Given the description of an element on the screen output the (x, y) to click on. 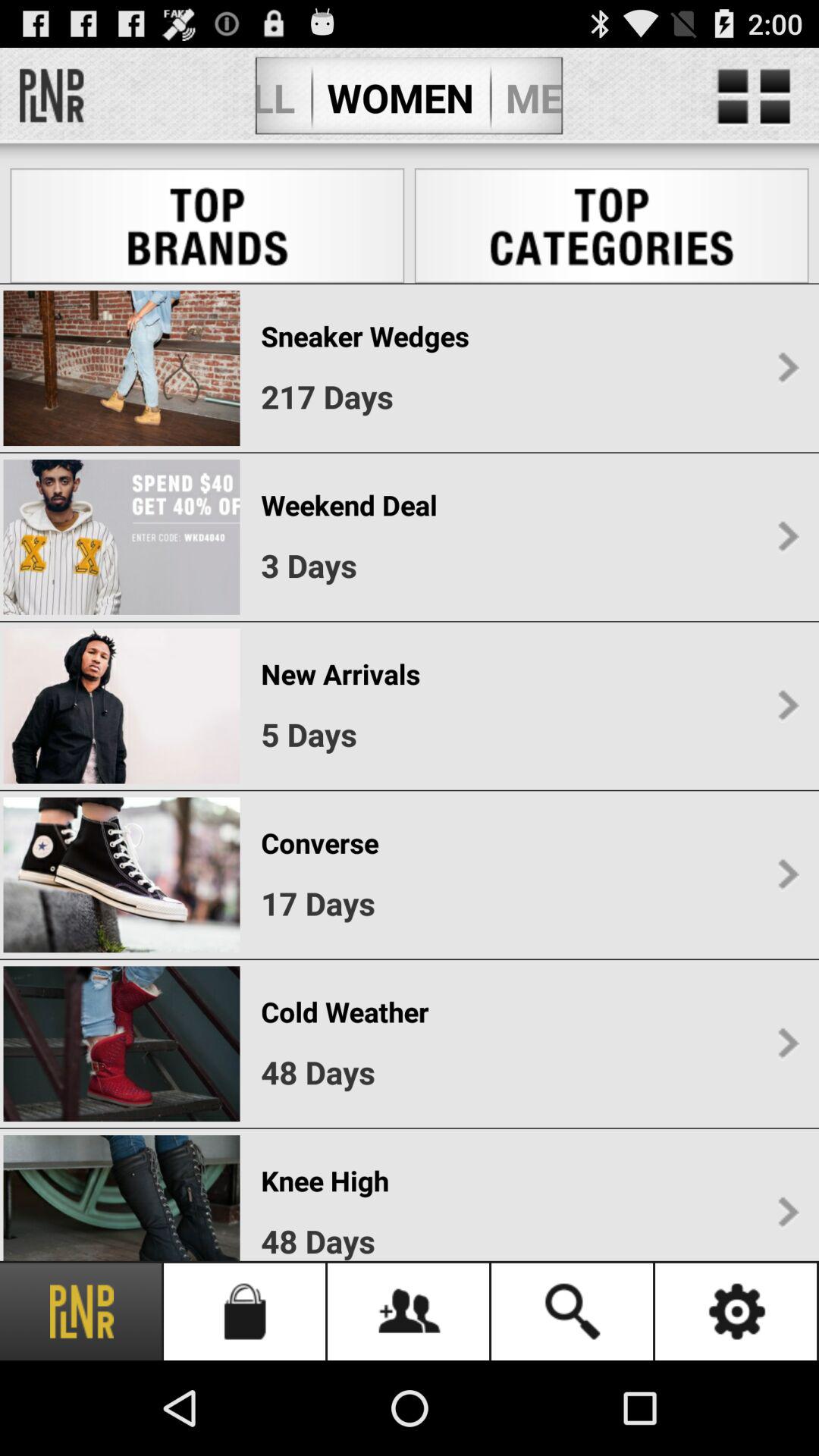
click top brands (207, 225)
select third image (121, 706)
select the fifth image (121, 1043)
click on the search icon (573, 1311)
select the first image below top brands (121, 367)
click on the third right scroll (788, 705)
click on the right arrow above the settings icon (788, 1212)
